Given the description of an element on the screen output the (x, y) to click on. 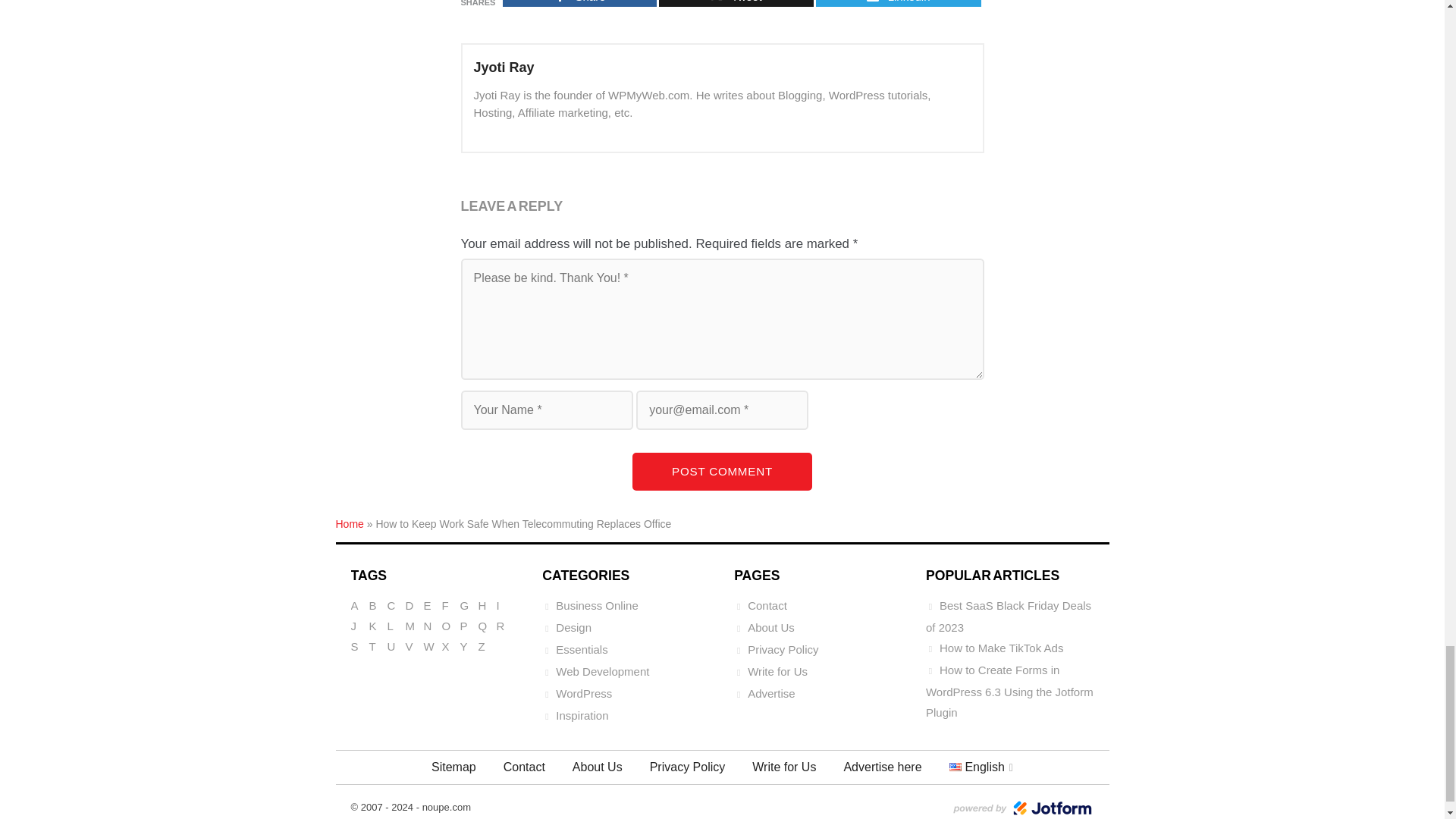
Linkedin (898, 3)
Home (348, 523)
Post Comment (721, 470)
Share (579, 3)
Post Comment (721, 470)
Jyoti Ray (503, 67)
Tweet (735, 3)
